Given the description of an element on the screen output the (x, y) to click on. 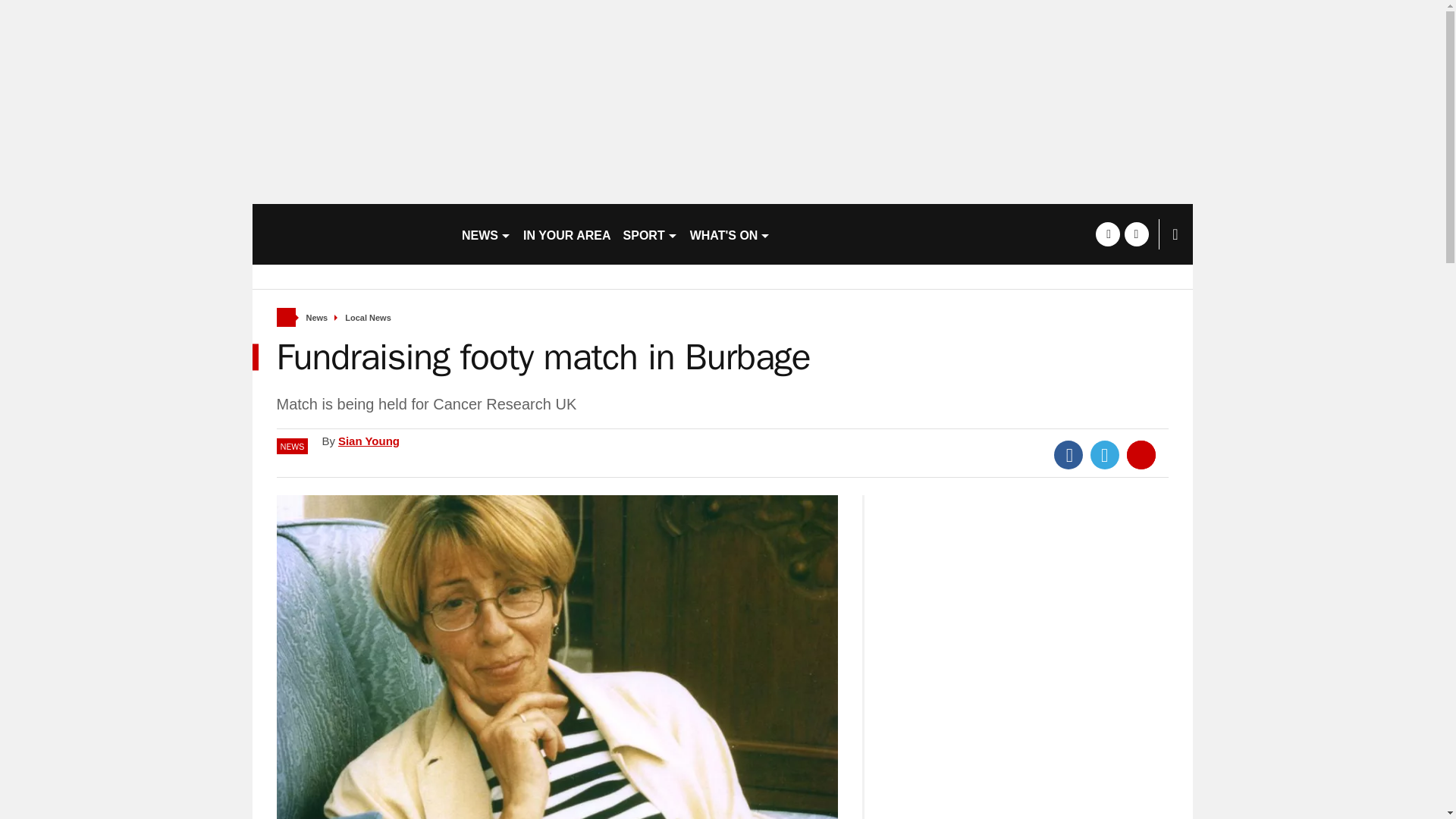
NEWS (485, 233)
hinckleytimes (349, 233)
IN YOUR AREA (566, 233)
Facebook (1068, 454)
twitter (1136, 233)
Twitter (1104, 454)
SPORT (650, 233)
facebook (1106, 233)
WHAT'S ON (730, 233)
